Given the description of an element on the screen output the (x, y) to click on. 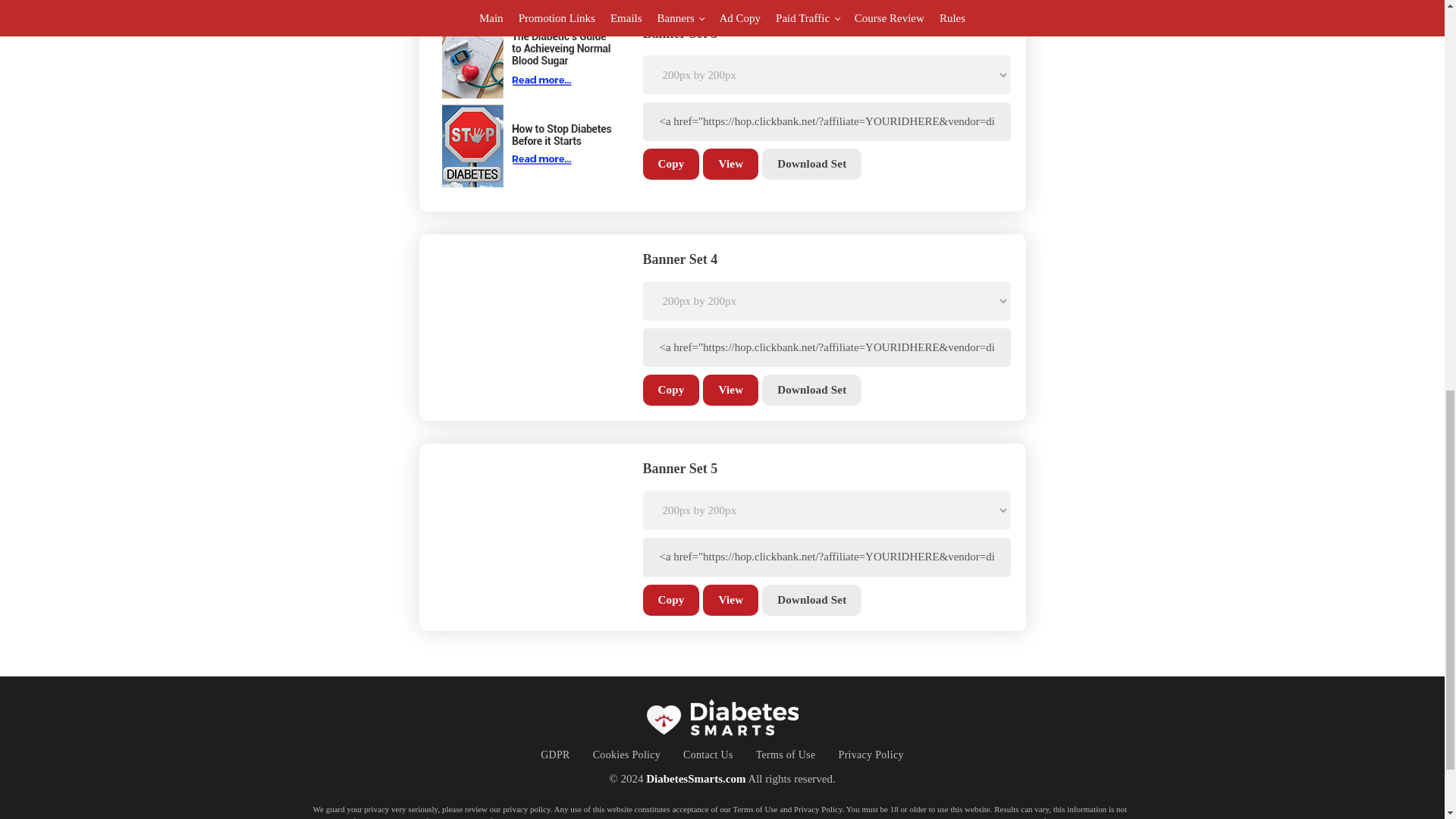
View (730, 389)
Cookies Policy (625, 754)
Copy (671, 163)
Privacy Policy (871, 754)
View (730, 163)
Copy (671, 599)
Terms of Use (785, 754)
Copy (671, 389)
Download Set (811, 163)
Download Set (811, 389)
Contact Us (707, 754)
GDPR (554, 754)
Download Set (811, 599)
View (730, 599)
